Given the description of an element on the screen output the (x, y) to click on. 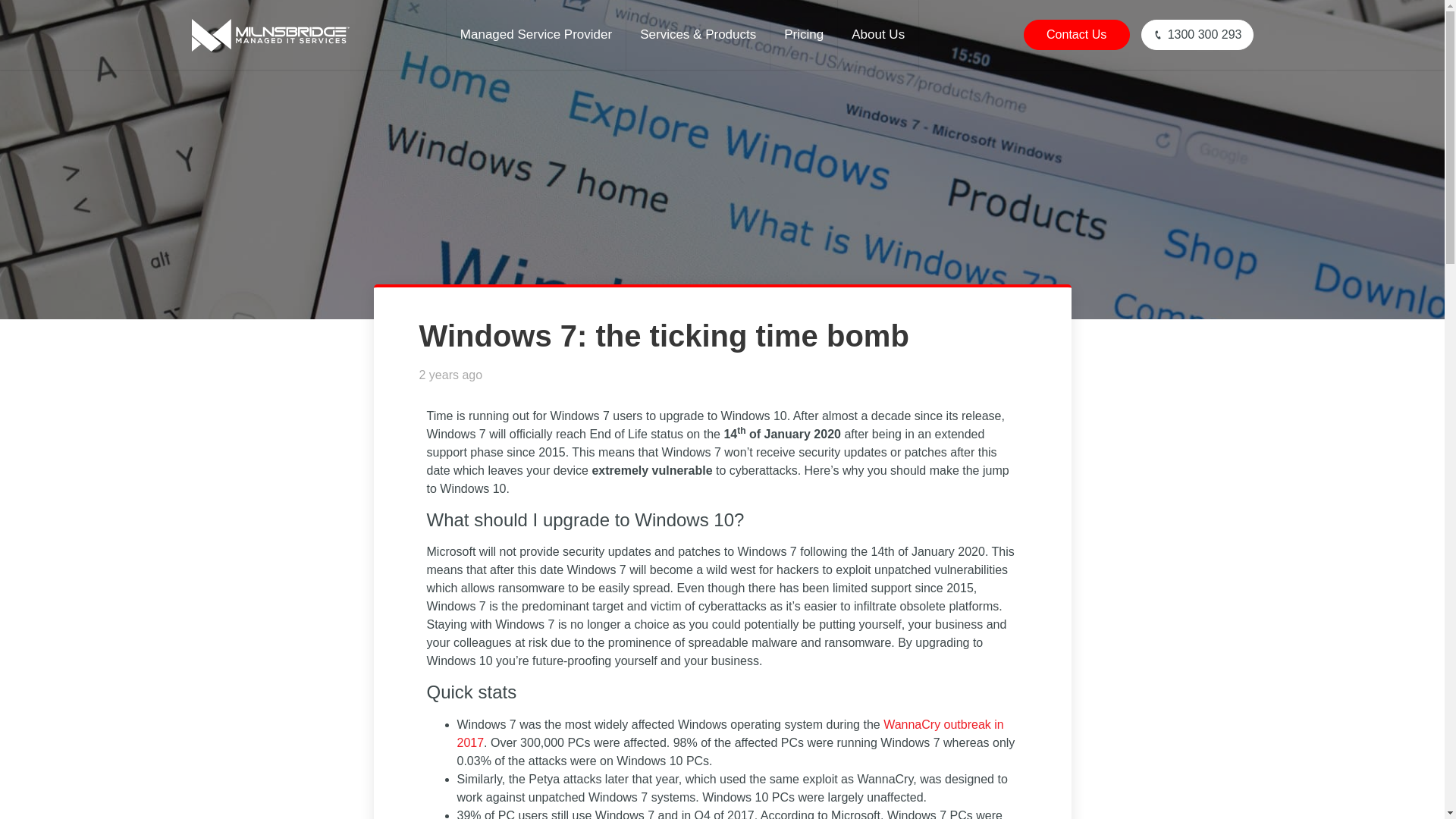
About Us (878, 34)
1300 300 293 (1197, 34)
Managed Service Provider (536, 34)
Contact Us (1076, 34)
WannaCry outbreak in 2017 (730, 733)
Pricing (803, 34)
